Given the description of an element on the screen output the (x, y) to click on. 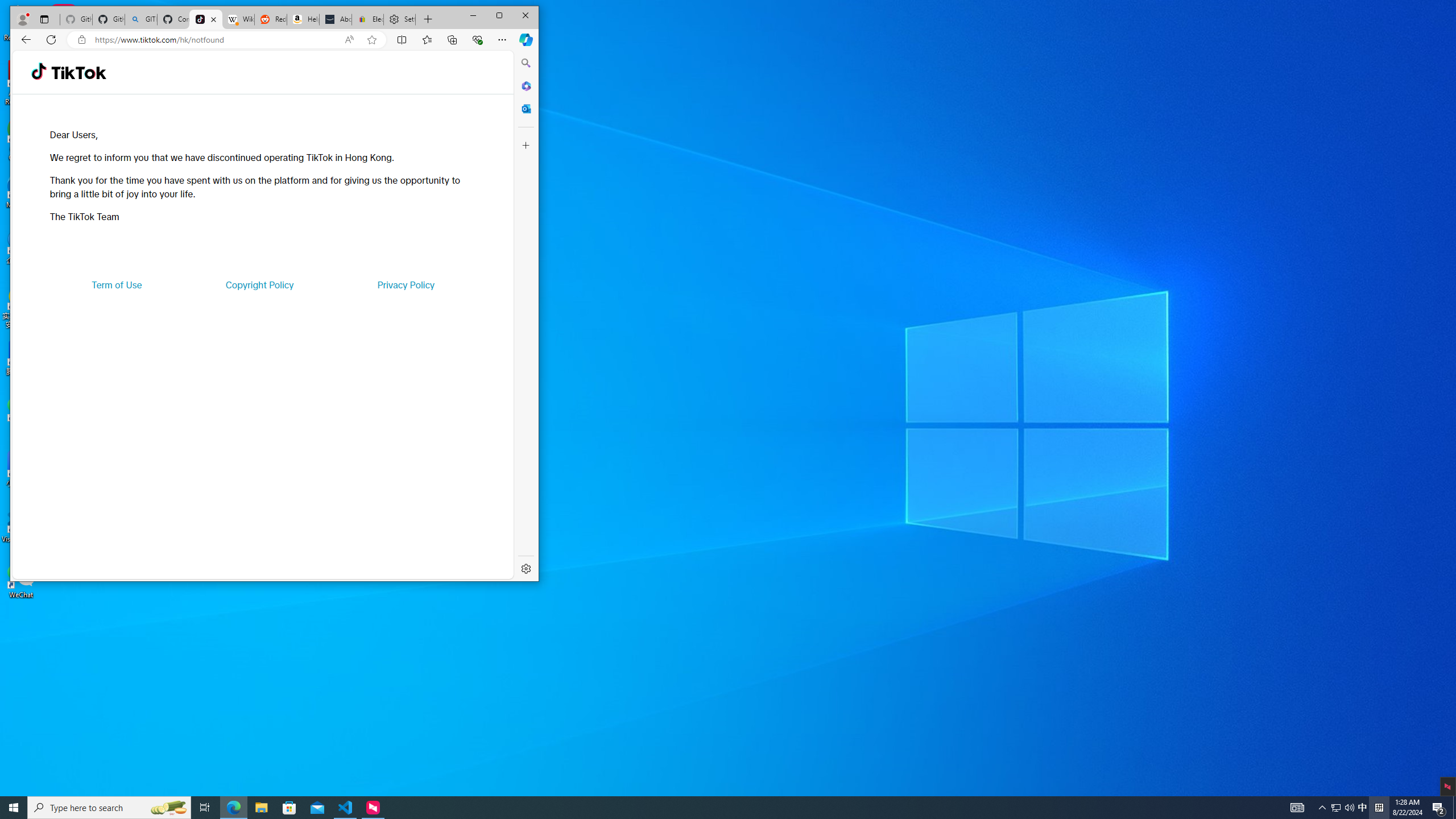
Notification Chevron (1322, 807)
